Given the description of an element on the screen output the (x, y) to click on. 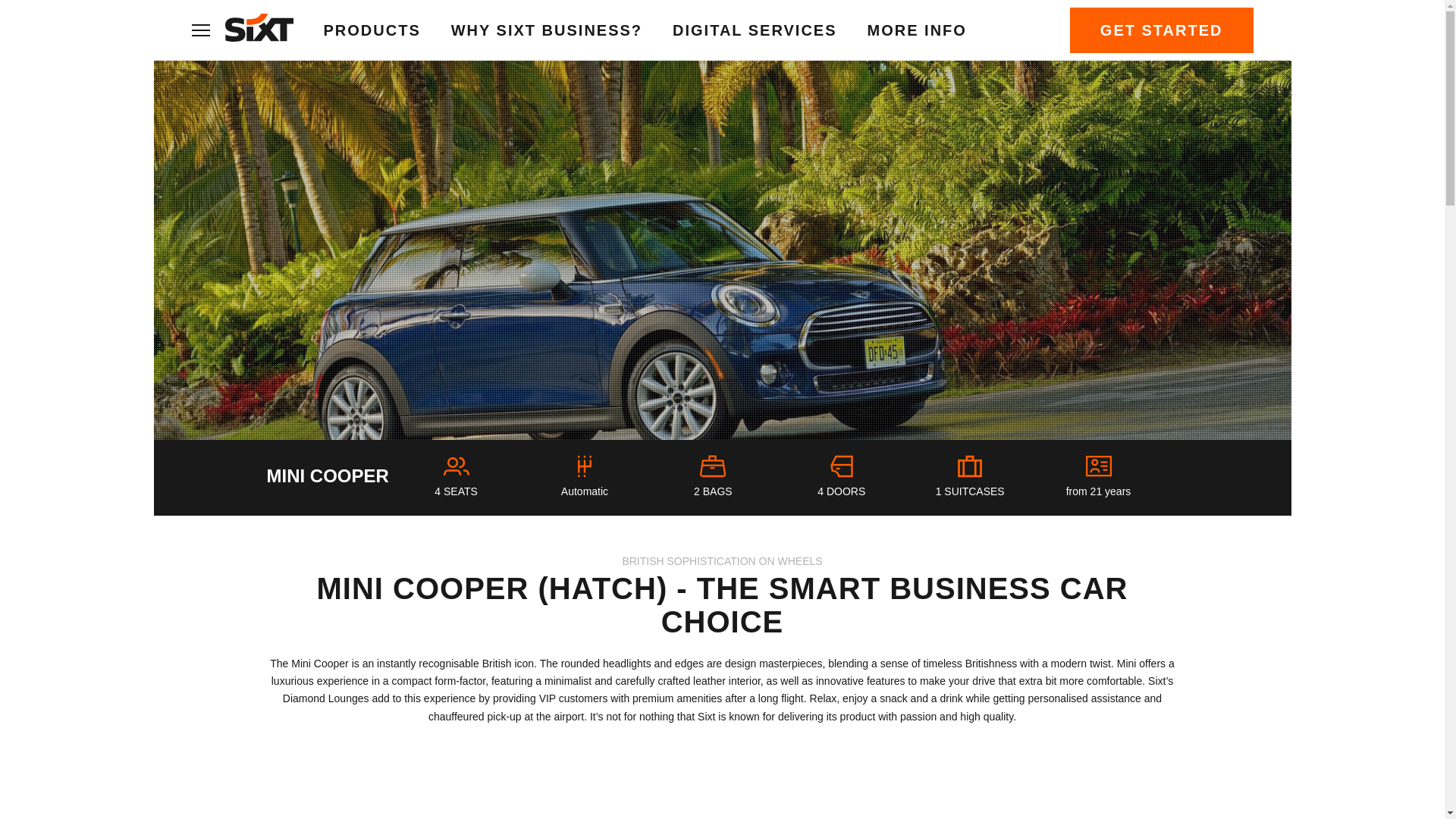
Mini Cooper (884, 814)
ico-automatictransmission Created with Sketch. (584, 466)
ico-suitcase Created with Sketch. (970, 466)
GET STARTED (1161, 30)
ico-handbag Created with Sketch. (712, 466)
ico-driverslicense Created with Sketch. (1098, 466)
ico-people-1 Created with Sketch. (456, 466)
WHY SIXT BUSINESS? (546, 29)
MORE INFO (916, 29)
PRODUCTS (371, 29)
DIGITAL SERVICES (753, 29)
ico-door Created with Sketch. (842, 466)
